Given the description of an element on the screen output the (x, y) to click on. 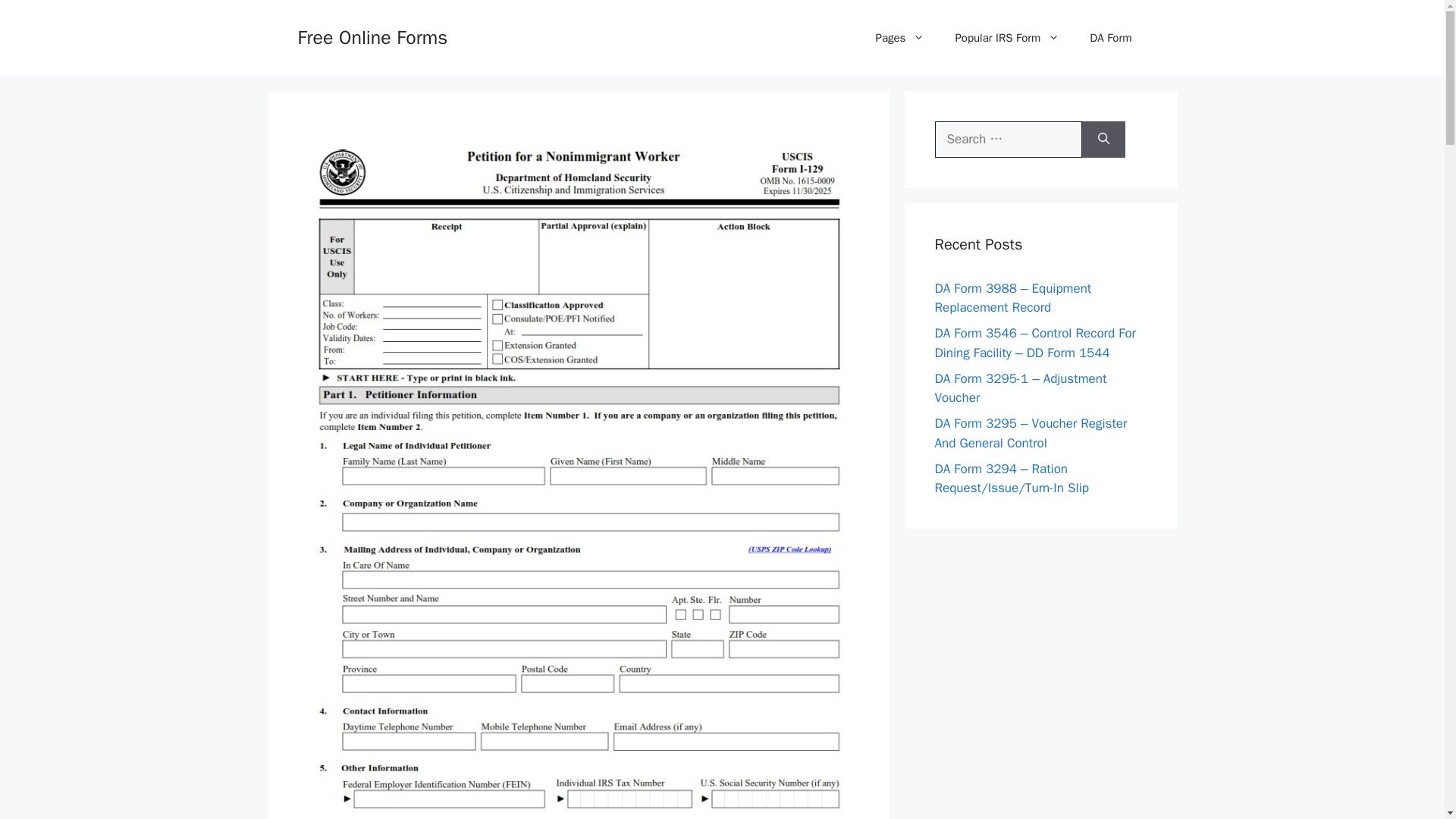
Free Online Forms (371, 37)
DA Form (1110, 37)
Popular IRS Form (1006, 37)
Search for: (1007, 139)
Pages (900, 37)
